Given the description of an element on the screen output the (x, y) to click on. 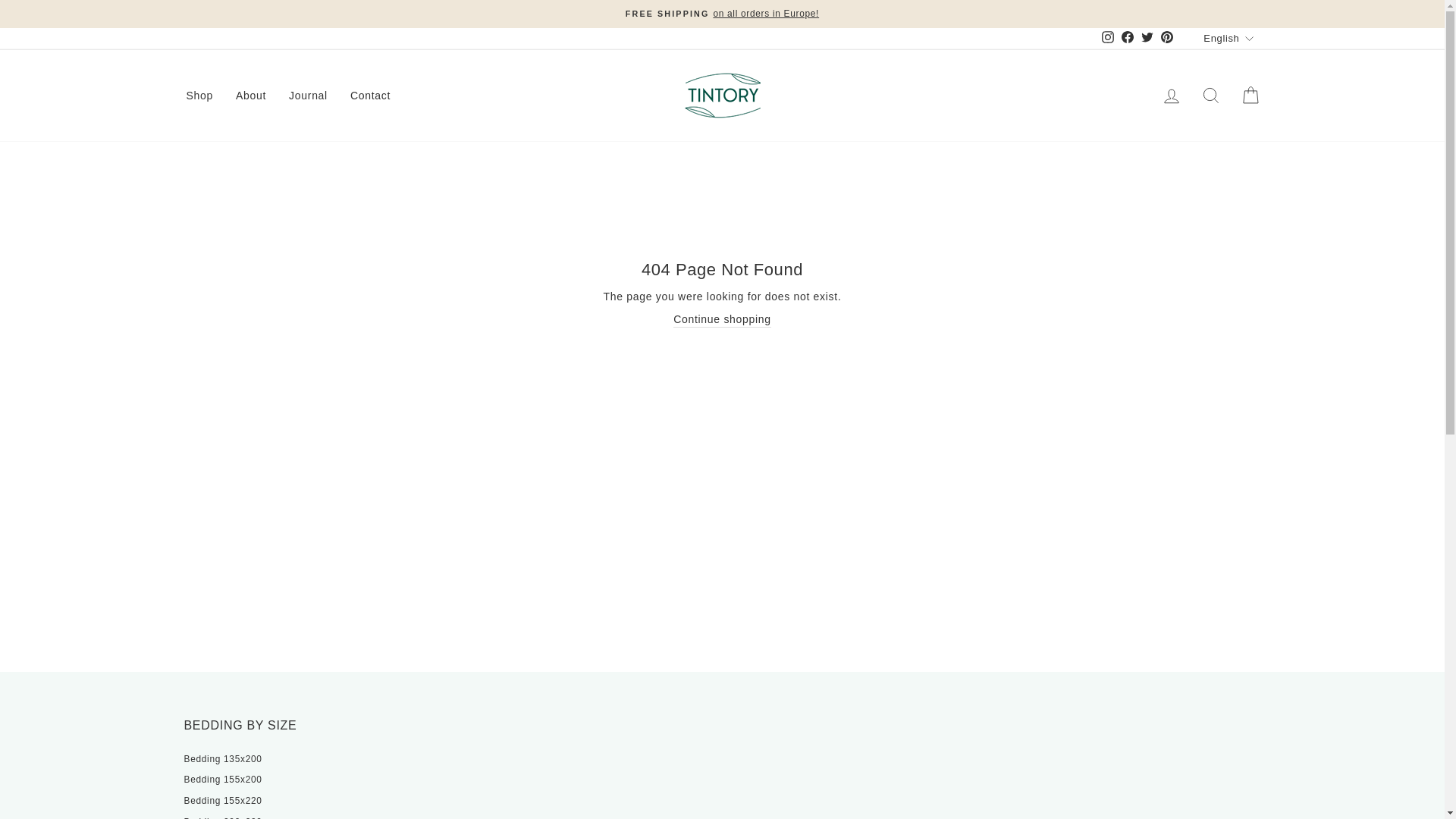
TINTORY Store on Twitter (1147, 38)
TINTORY Store on Facebook (1127, 38)
TINTORY Store on Instagram (1107, 38)
TINTORY Store on Pinterest (1166, 38)
